Given the description of an element on the screen output the (x, y) to click on. 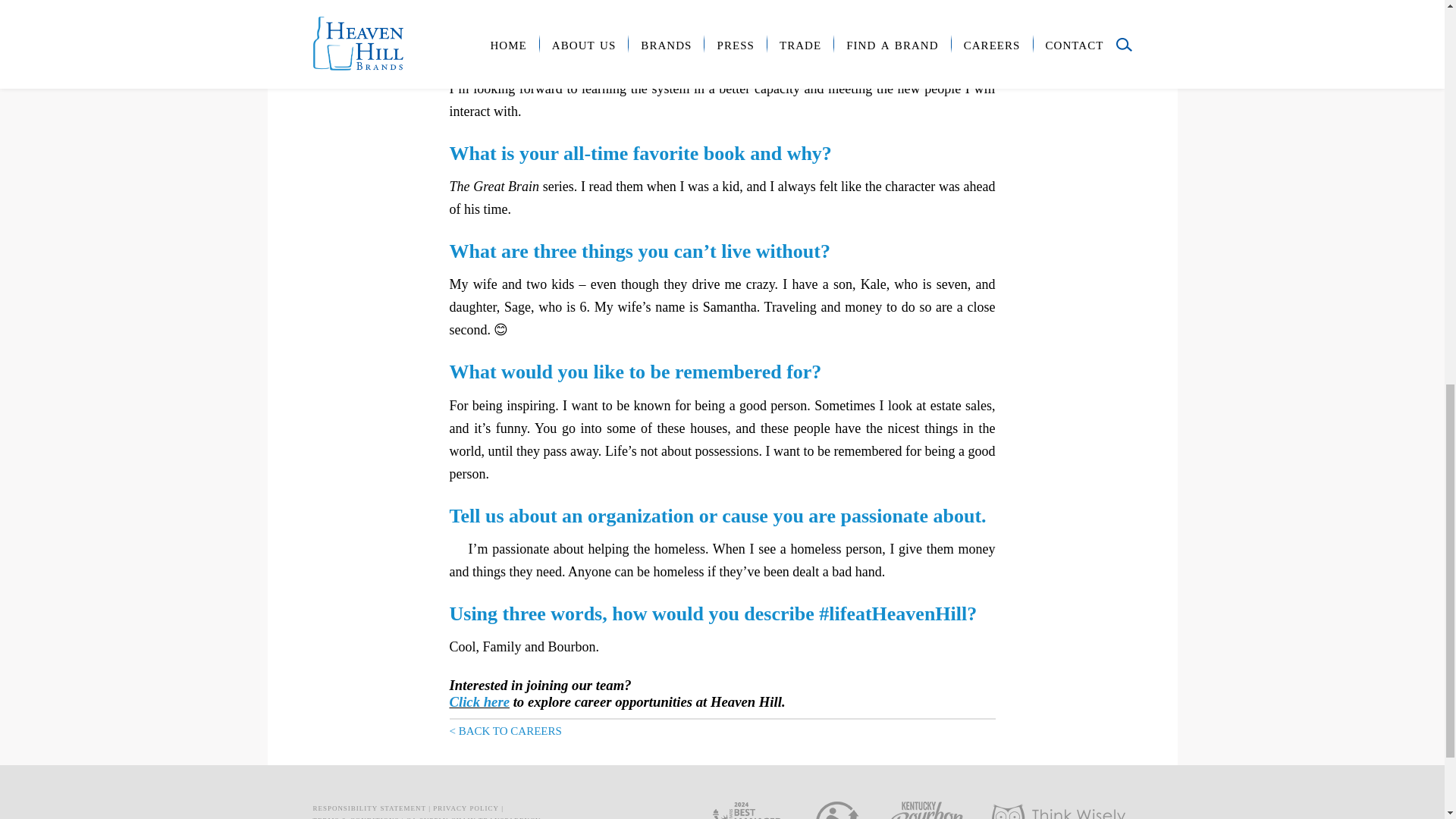
responsibility statement (369, 807)
privacy policy (465, 807)
Click here (478, 701)
CA Supply Chain Transparency (473, 816)
